Given the description of an element on the screen output the (x, y) to click on. 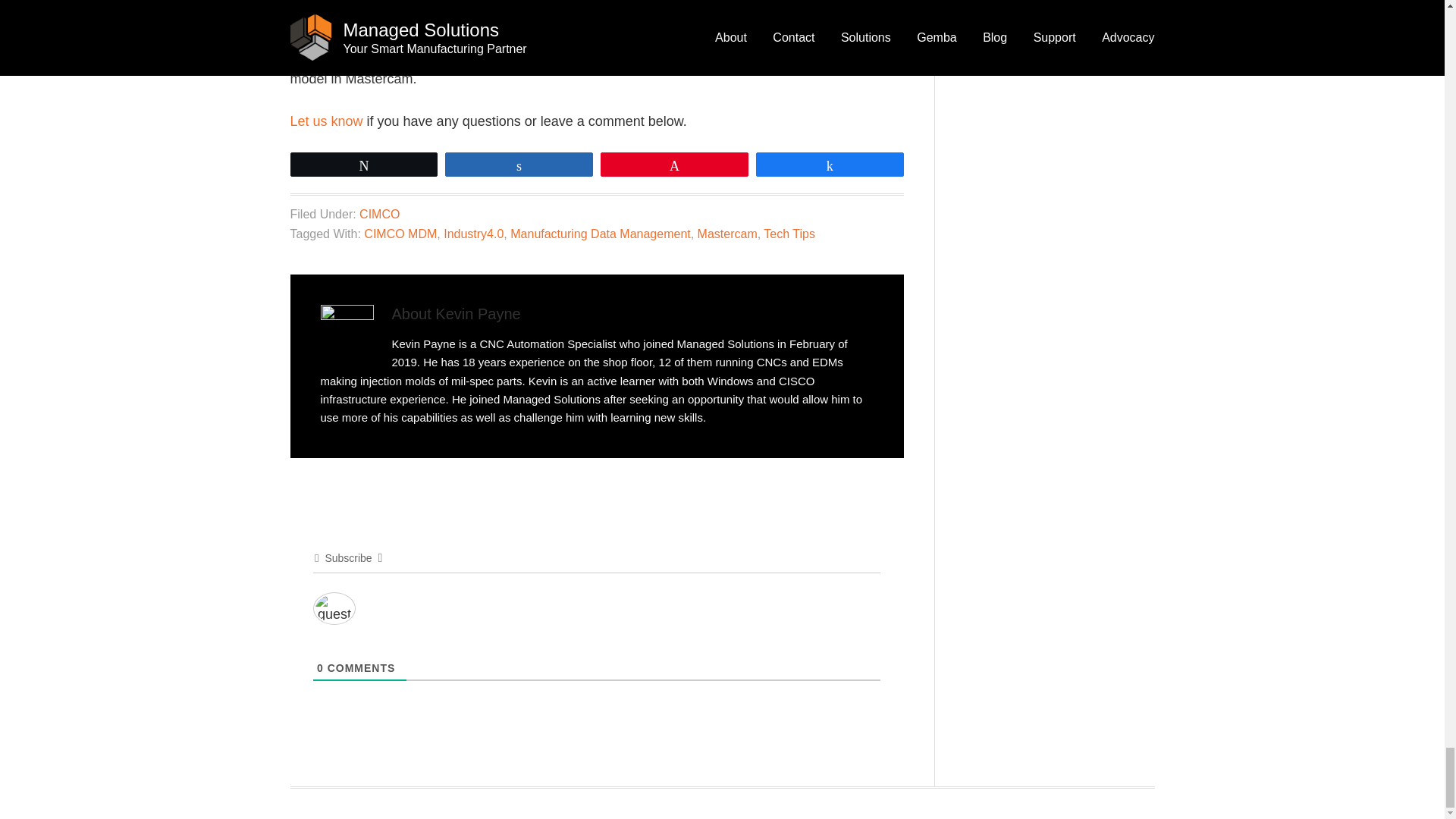
CIMCO MDM (400, 233)
Industry4.0 (473, 233)
CIMCO (378, 214)
Manufacturing Data Management (600, 233)
Tech Tips (788, 233)
Mastercam (727, 233)
Let us know (325, 120)
